Given the description of an element on the screen output the (x, y) to click on. 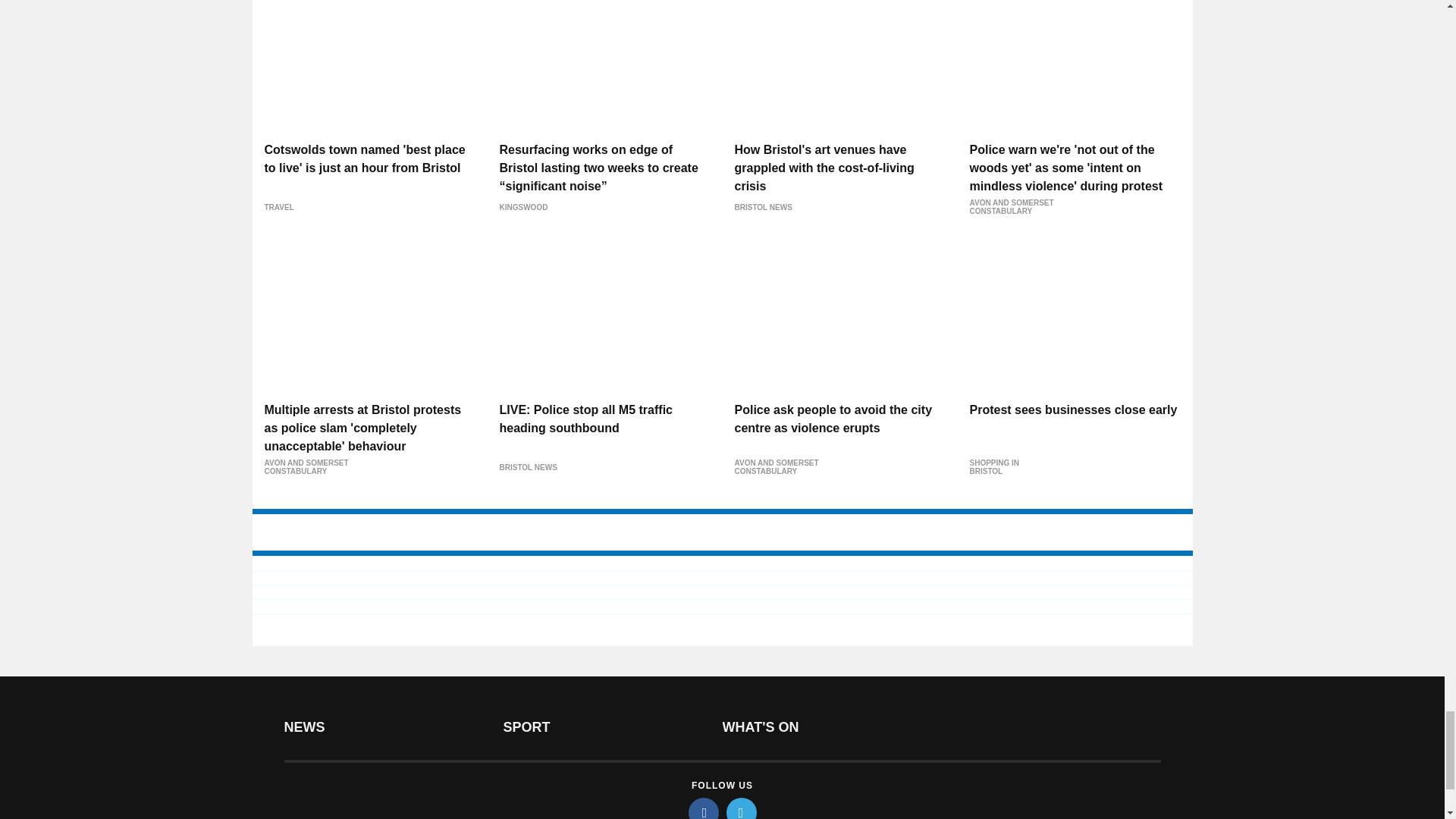
twitter (741, 808)
facebook (703, 808)
